Given the description of an element on the screen output the (x, y) to click on. 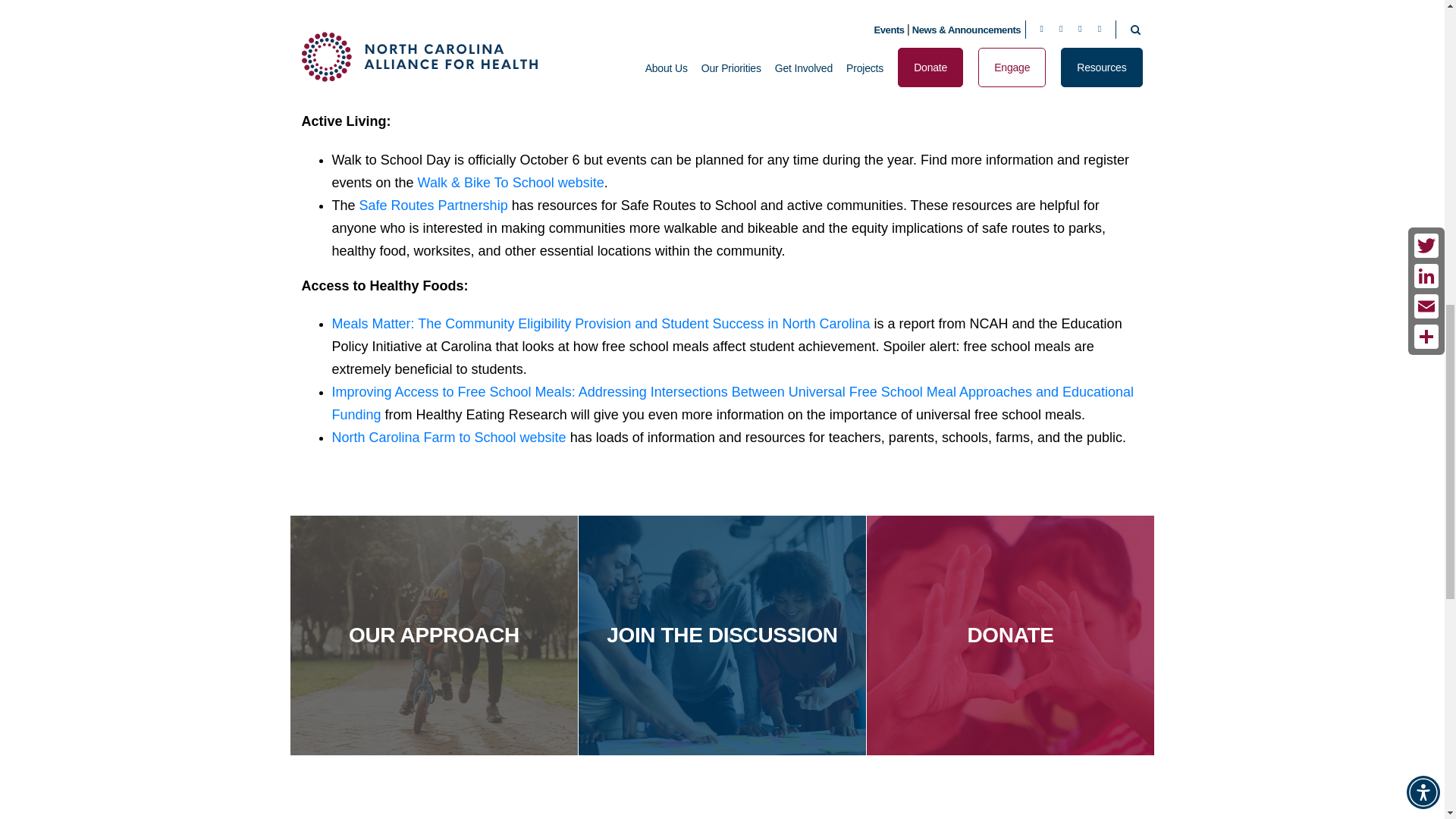
Tobacco Prevention Toolkit (563, 17)
